Given the description of an element on the screen output the (x, y) to click on. 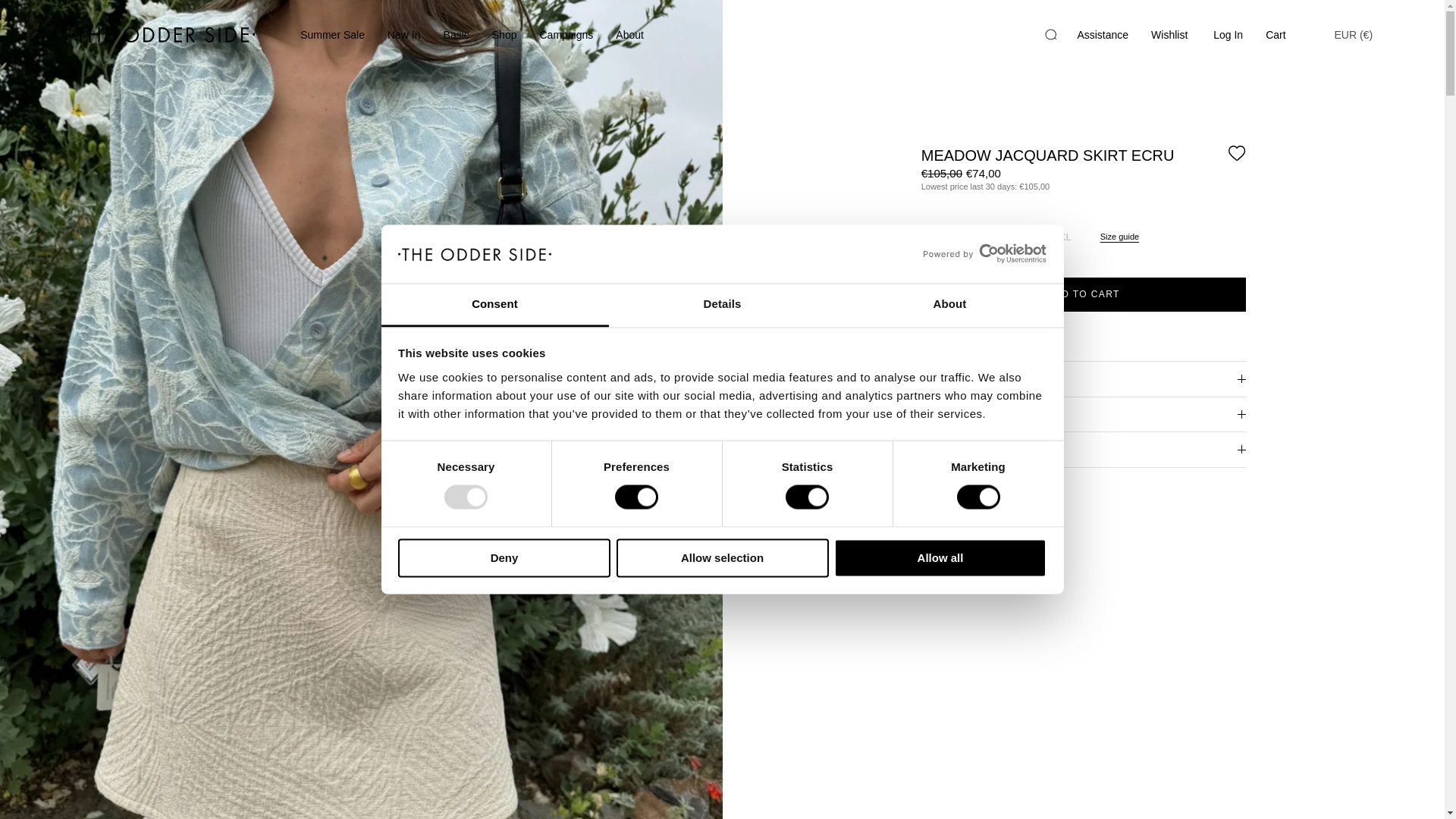
About (948, 304)
Details (721, 304)
Consent (494, 304)
